Given the description of an element on the screen output the (x, y) to click on. 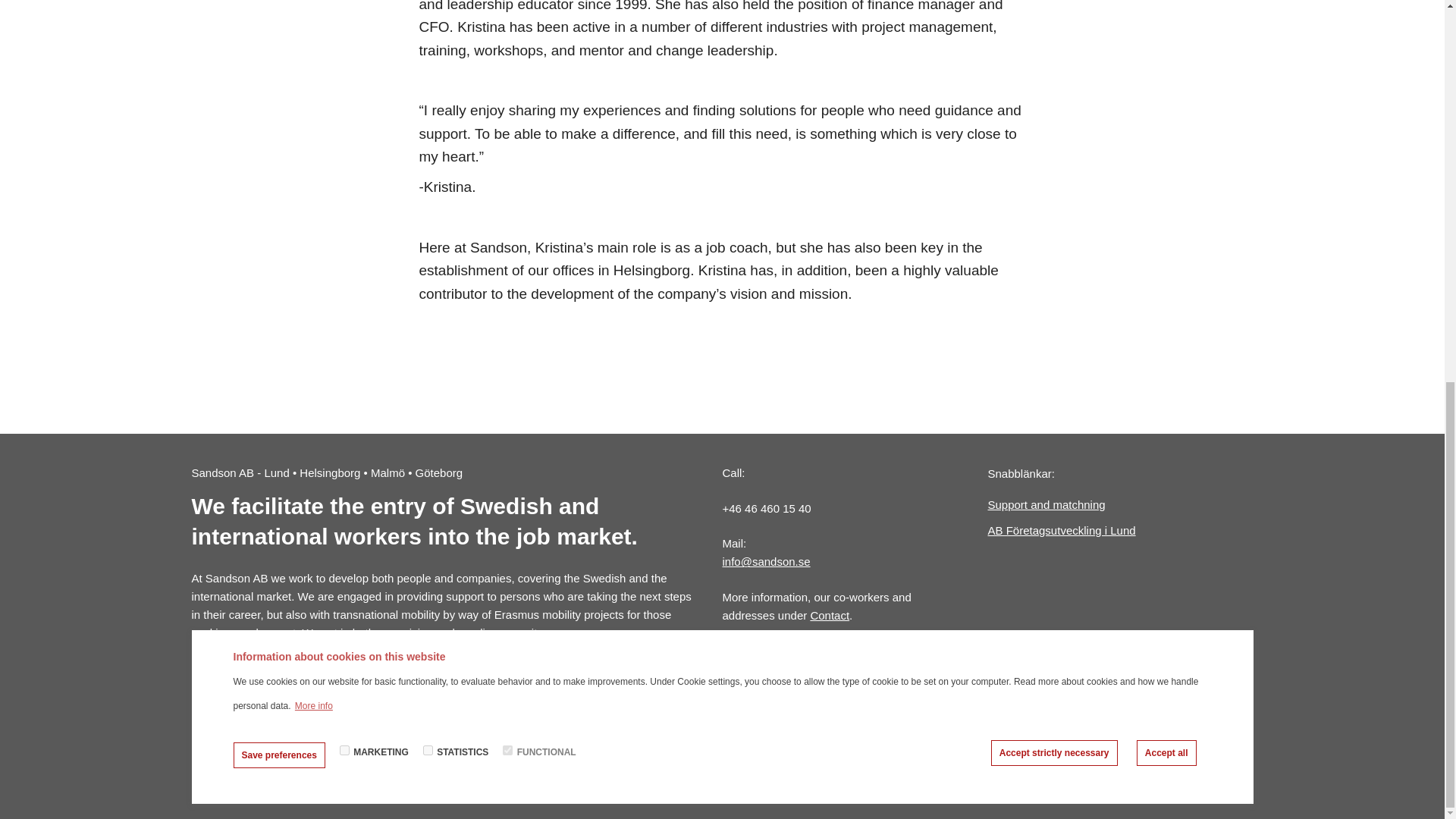
Withdraw consent (1240, 31)
marketing (344, 35)
Contact (828, 615)
Linkedin (428, 684)
Accept all (1166, 37)
Instagram (343, 684)
integritetspolicy (717, 766)
Save preferences (278, 39)
statistics (427, 35)
Support and matchning (1105, 505)
Cookies (813, 766)
Facebook (239, 684)
functional (507, 35)
Accept strictly necessary (1054, 37)
